Given the description of an element on the screen output the (x, y) to click on. 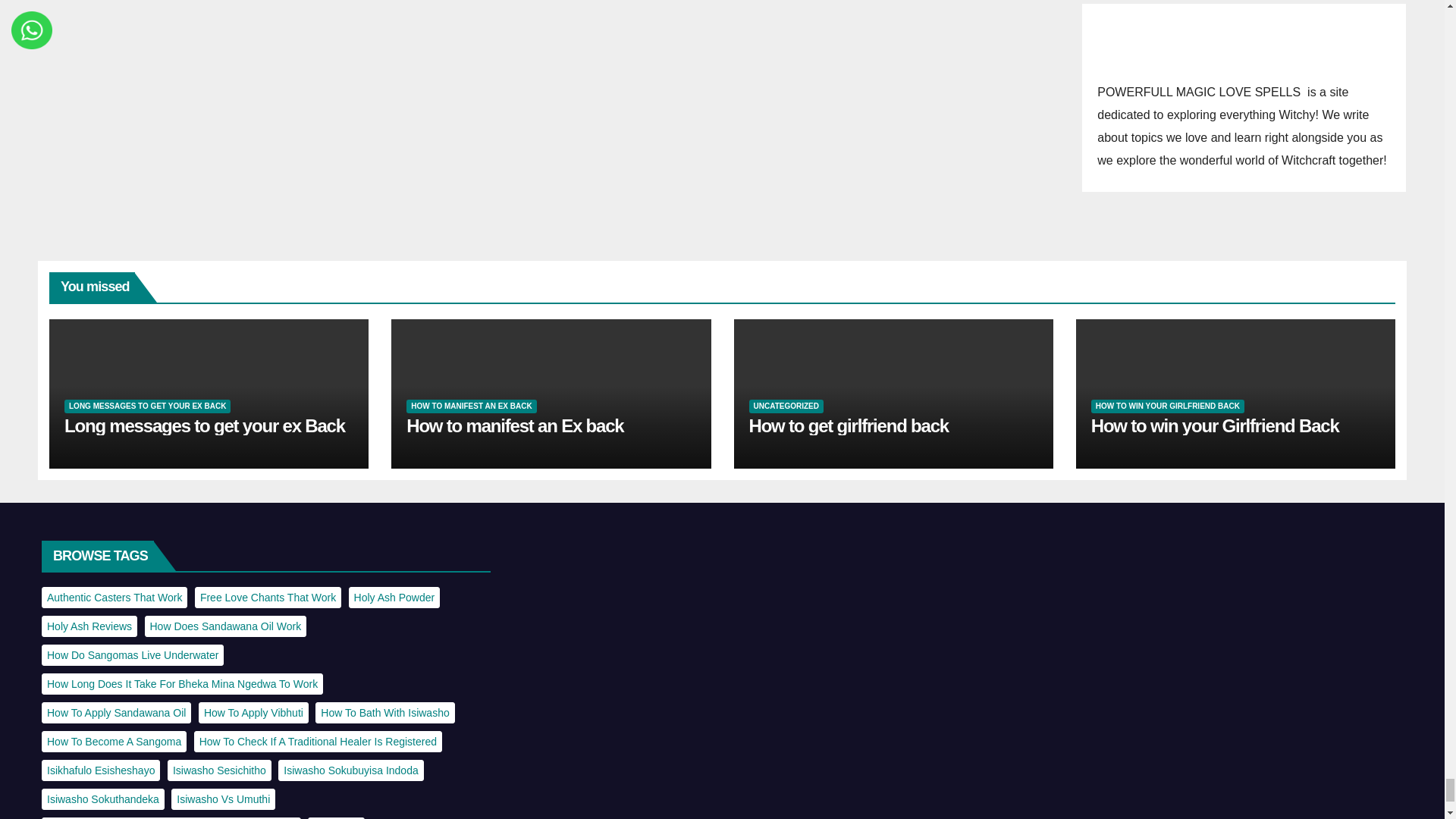
Permalink to: How to get girlfriend back (849, 425)
Permalink to: Long messages to get your ex Back (204, 425)
Permalink to: How to manifest an Ex back (514, 425)
Permalink to: How to win your Girlfriend Back (1214, 425)
